Given the description of an element on the screen output the (x, y) to click on. 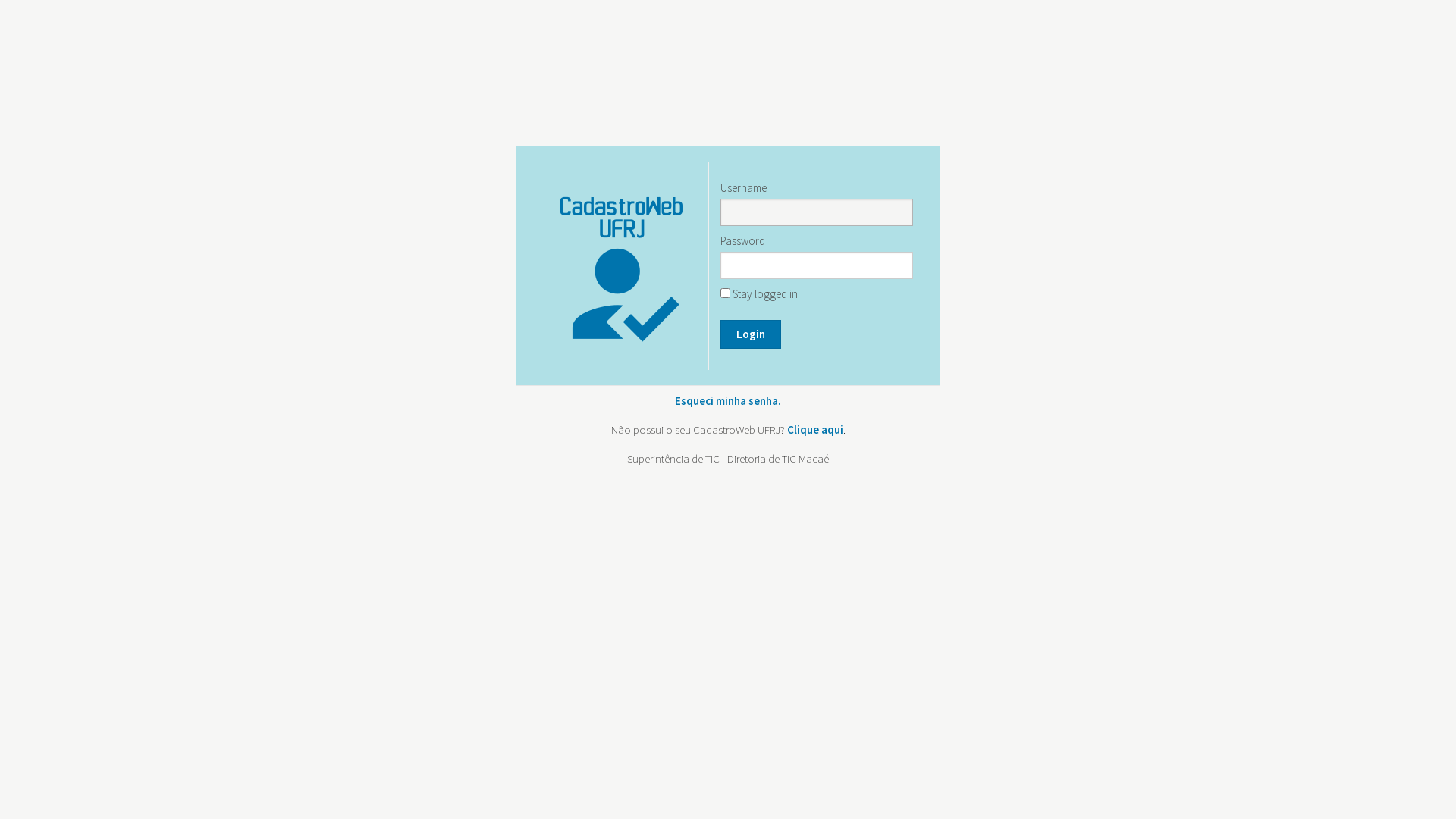
Esqueci minha senha. Element type: text (727, 400)
Login Element type: text (750, 334)
Clique aqui Element type: text (815, 429)
